Given the description of an element on the screen output the (x, y) to click on. 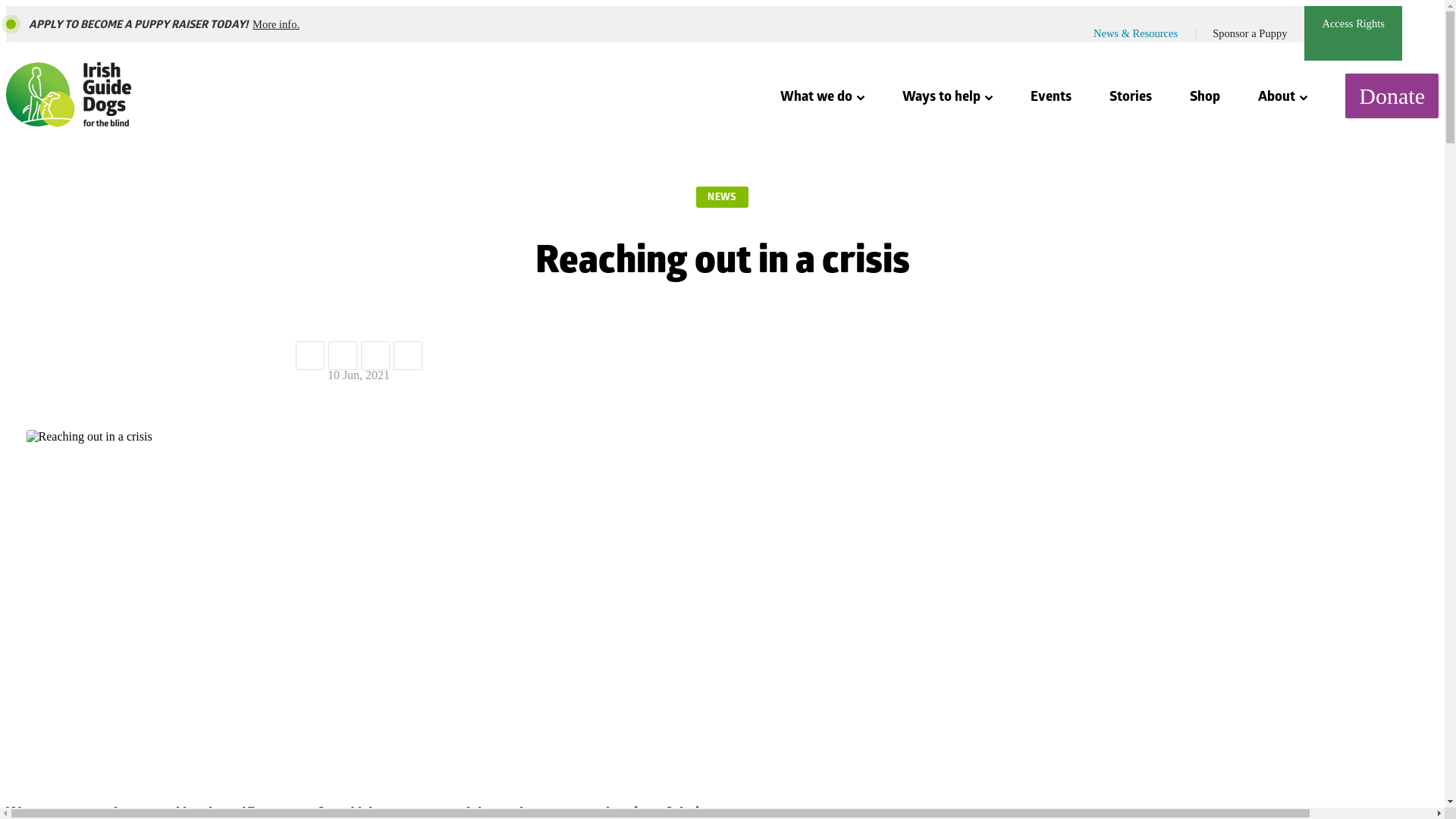
More info. (275, 24)
Sponsor a Puppy (1249, 32)
Donate (1391, 95)
Events (1050, 95)
Share on Facebook (309, 355)
Shop (1204, 95)
Access Rights (1353, 32)
Share on Twitter (375, 355)
Share on LinkedIn (341, 355)
Stories (1130, 95)
Share by Email (407, 355)
